Given the description of an element on the screen output the (x, y) to click on. 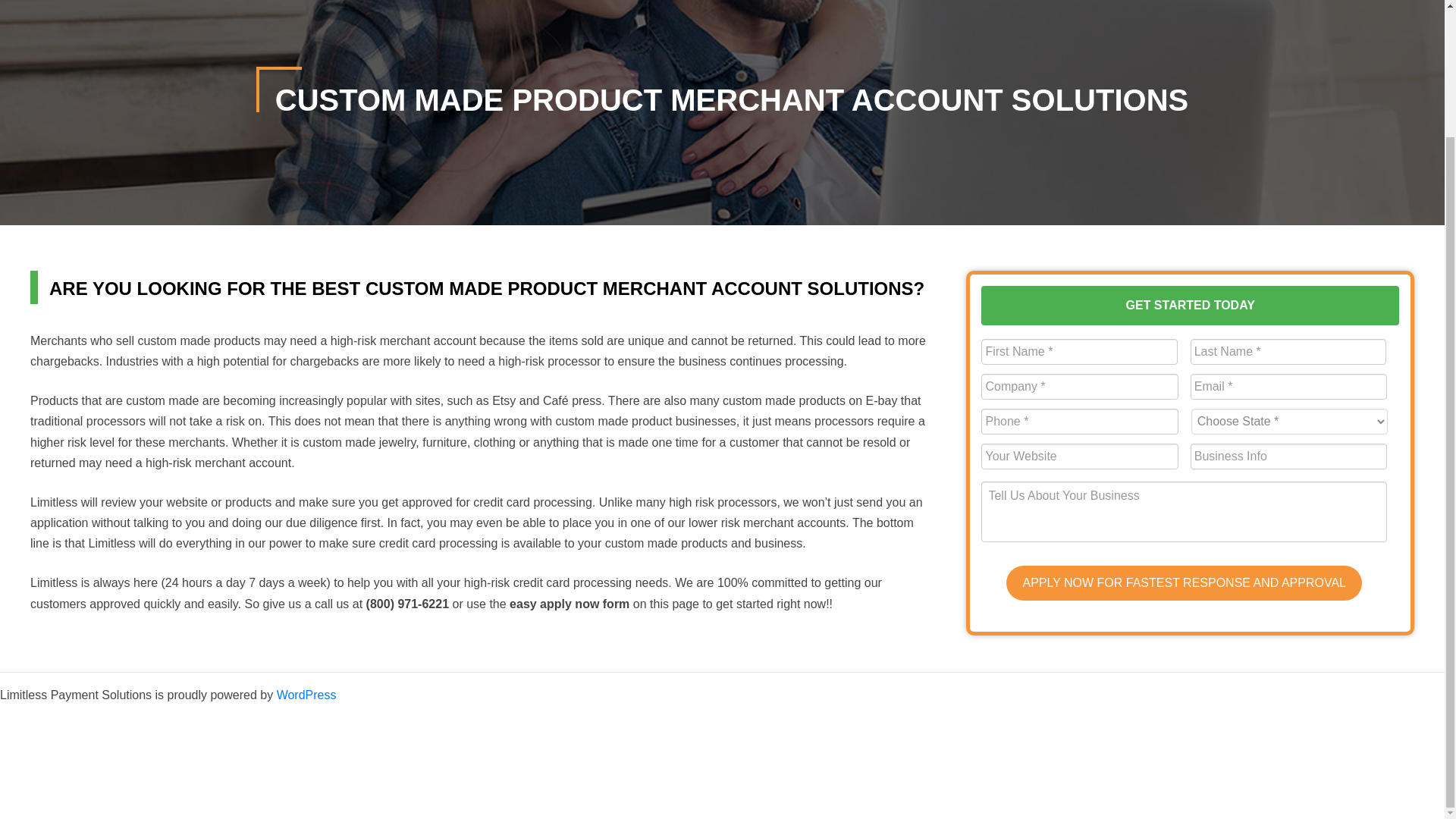
Call with Google Voice (407, 603)
WordPress (306, 694)
APPLY NOW FOR FASTEST RESPONSE AND APPROVAL (1183, 582)
APPLY NOW FOR FASTEST RESPONSE AND APPROVAL (1183, 582)
